Given the description of an element on the screen output the (x, y) to click on. 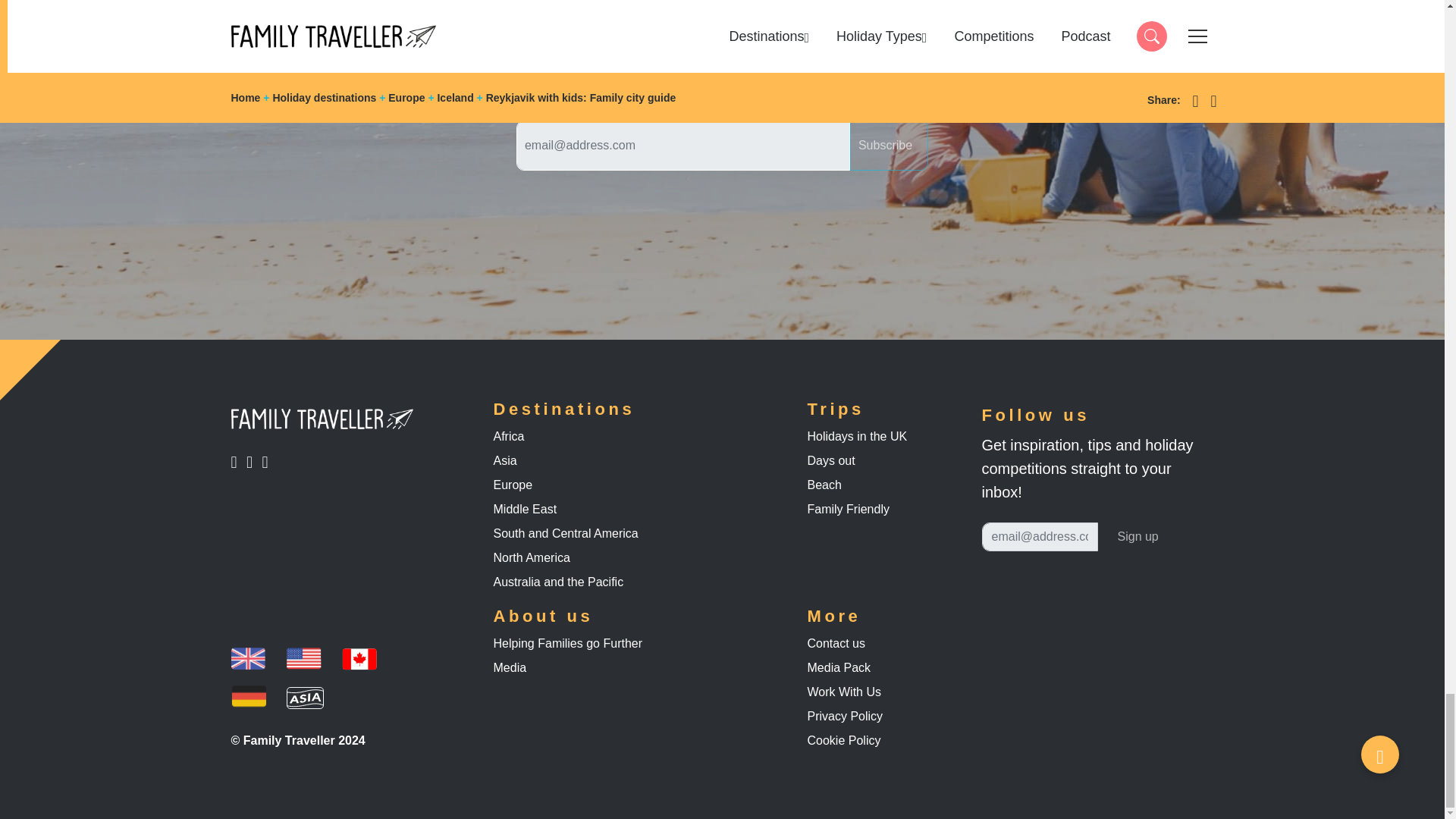
Visit Family Traveller USA (303, 658)
Visit Family Traveller UK (268, 461)
Subscribe (247, 658)
Sign up (889, 145)
Visit Family Traveller Asia (238, 461)
Visit Family Traveller Canada (1137, 536)
Visit Family Traveller DE (304, 697)
